Given the description of an element on the screen output the (x, y) to click on. 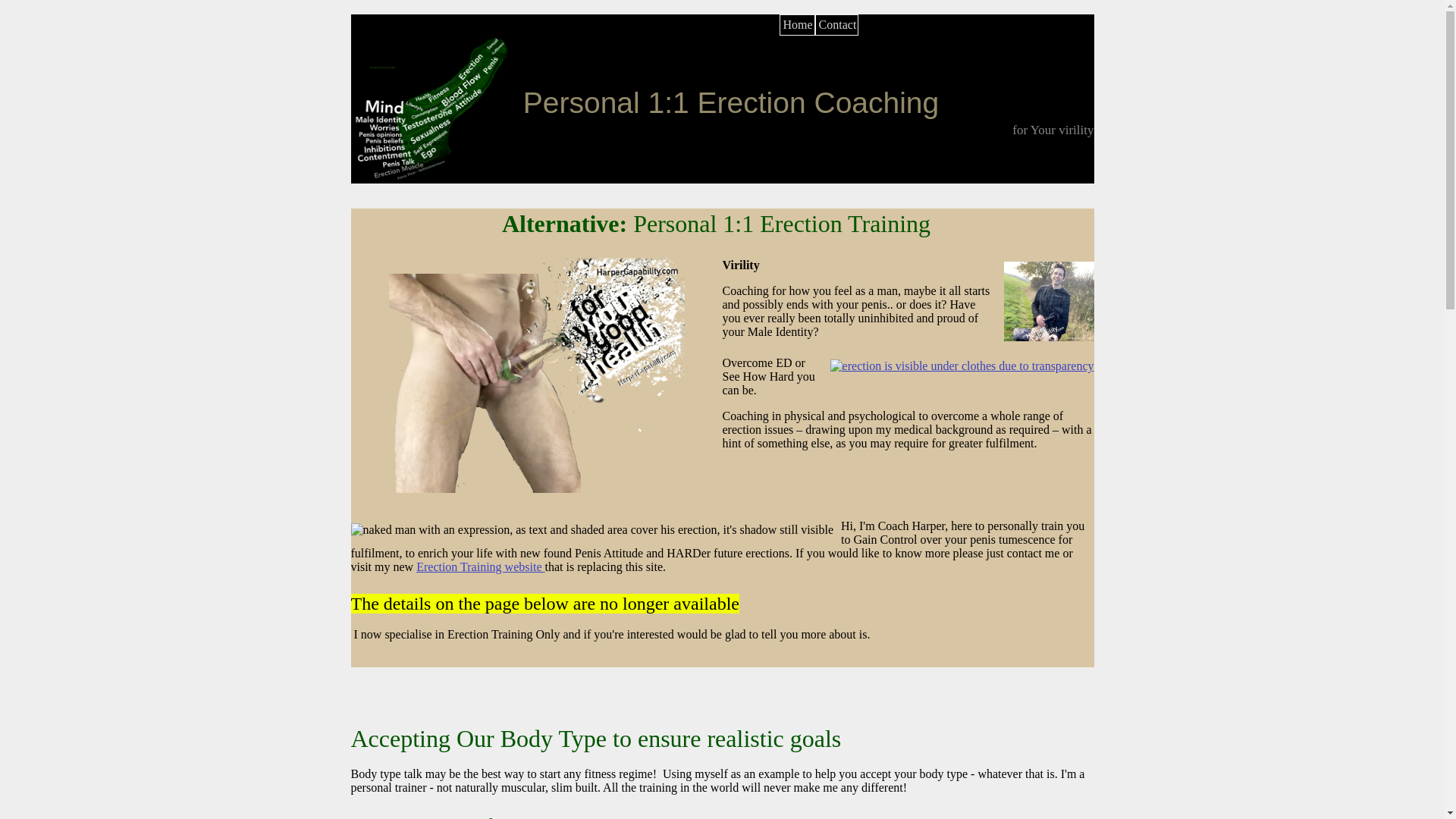
erection is visible under clothes due to transparency (961, 366)
Home (795, 25)
Personal 1:1 Erection Coaching (730, 102)
Erection Training website (480, 566)
champagne bottle in place of mans erection, fizzing (536, 375)
Contact (837, 25)
